Given the description of an element on the screen output the (x, y) to click on. 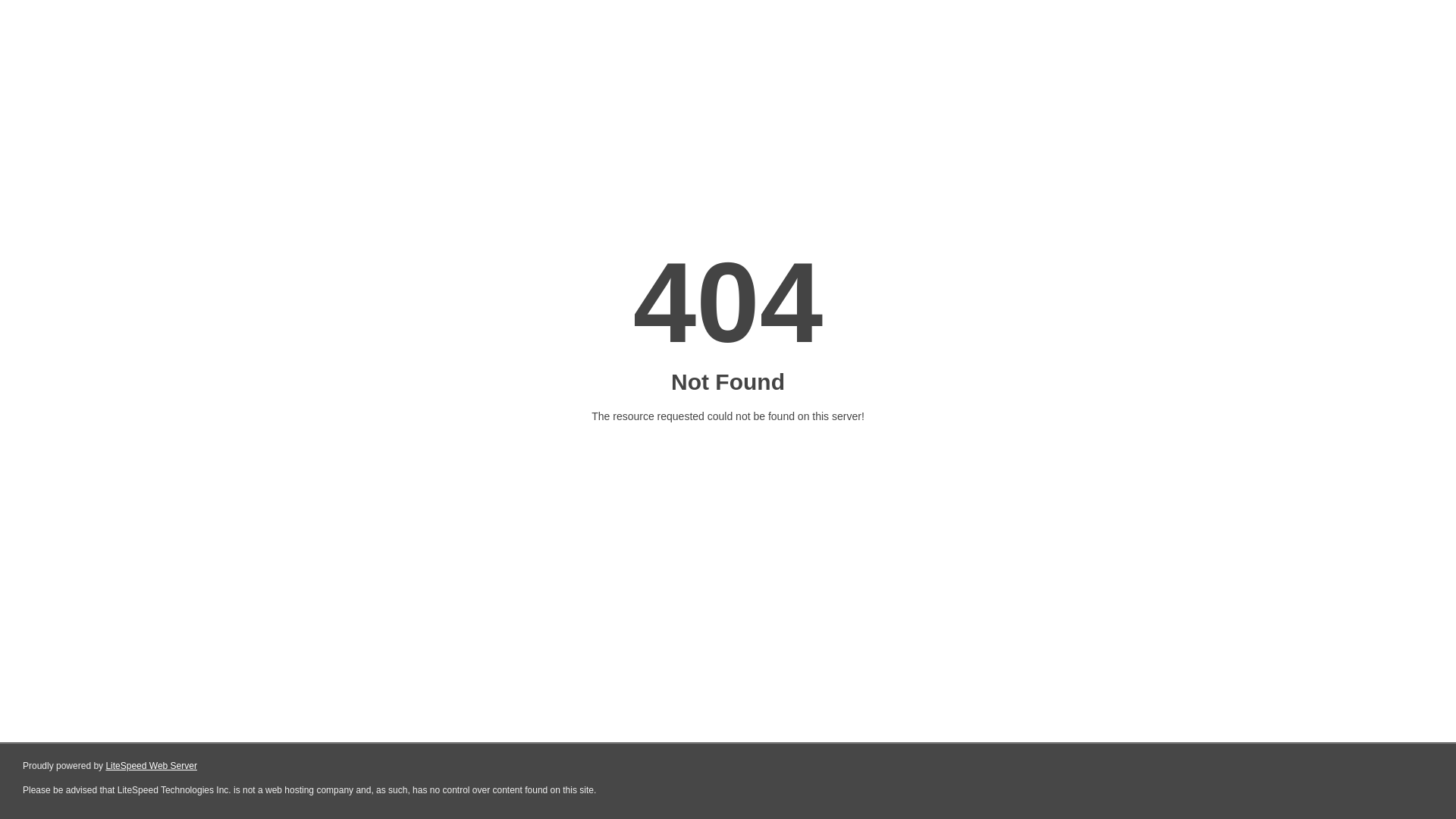
LiteSpeed Web Server Element type: text (151, 765)
